Given the description of an element on the screen output the (x, y) to click on. 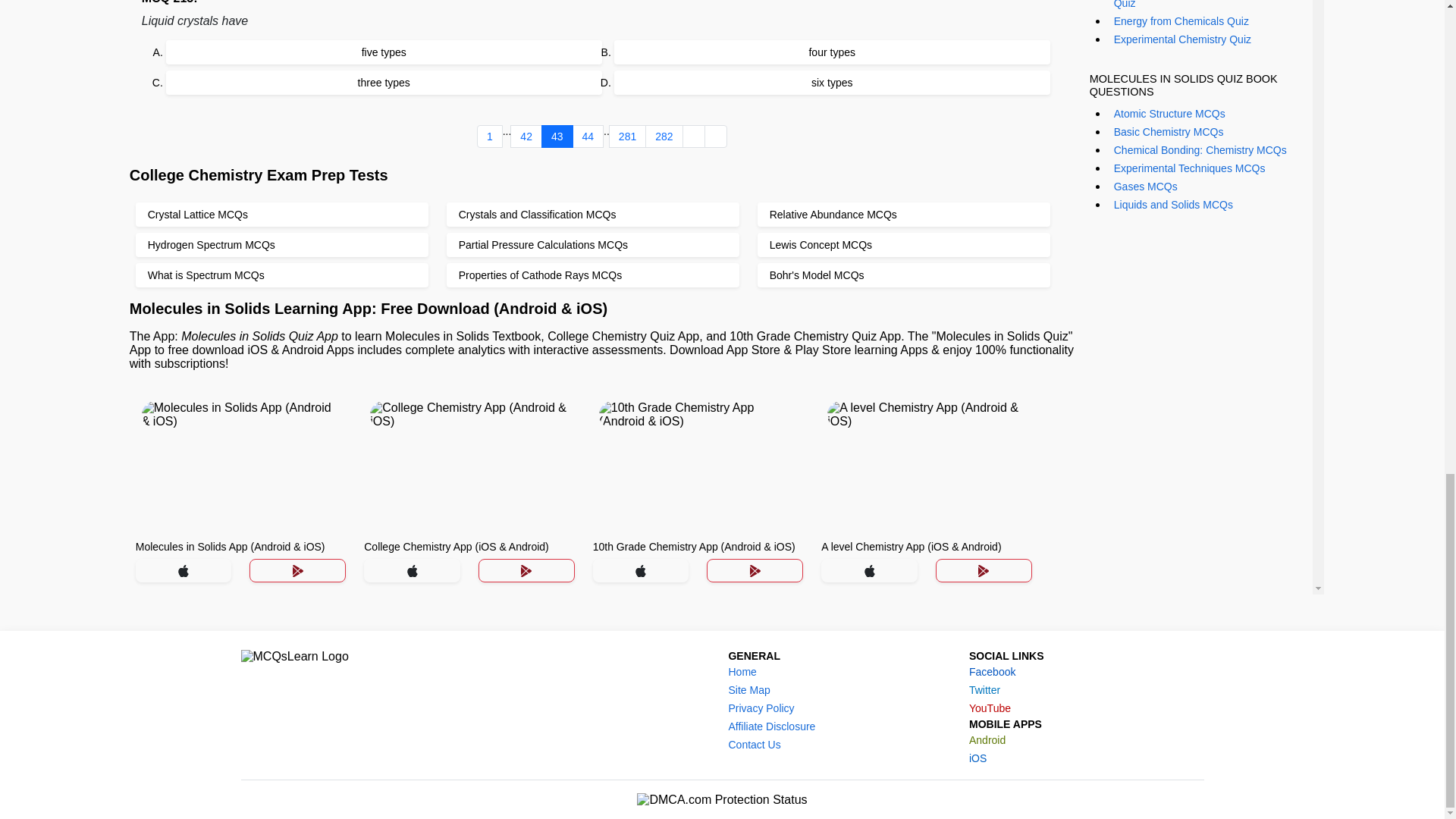
DMCA.com Protection Status (721, 799)
